Given the description of an element on the screen output the (x, y) to click on. 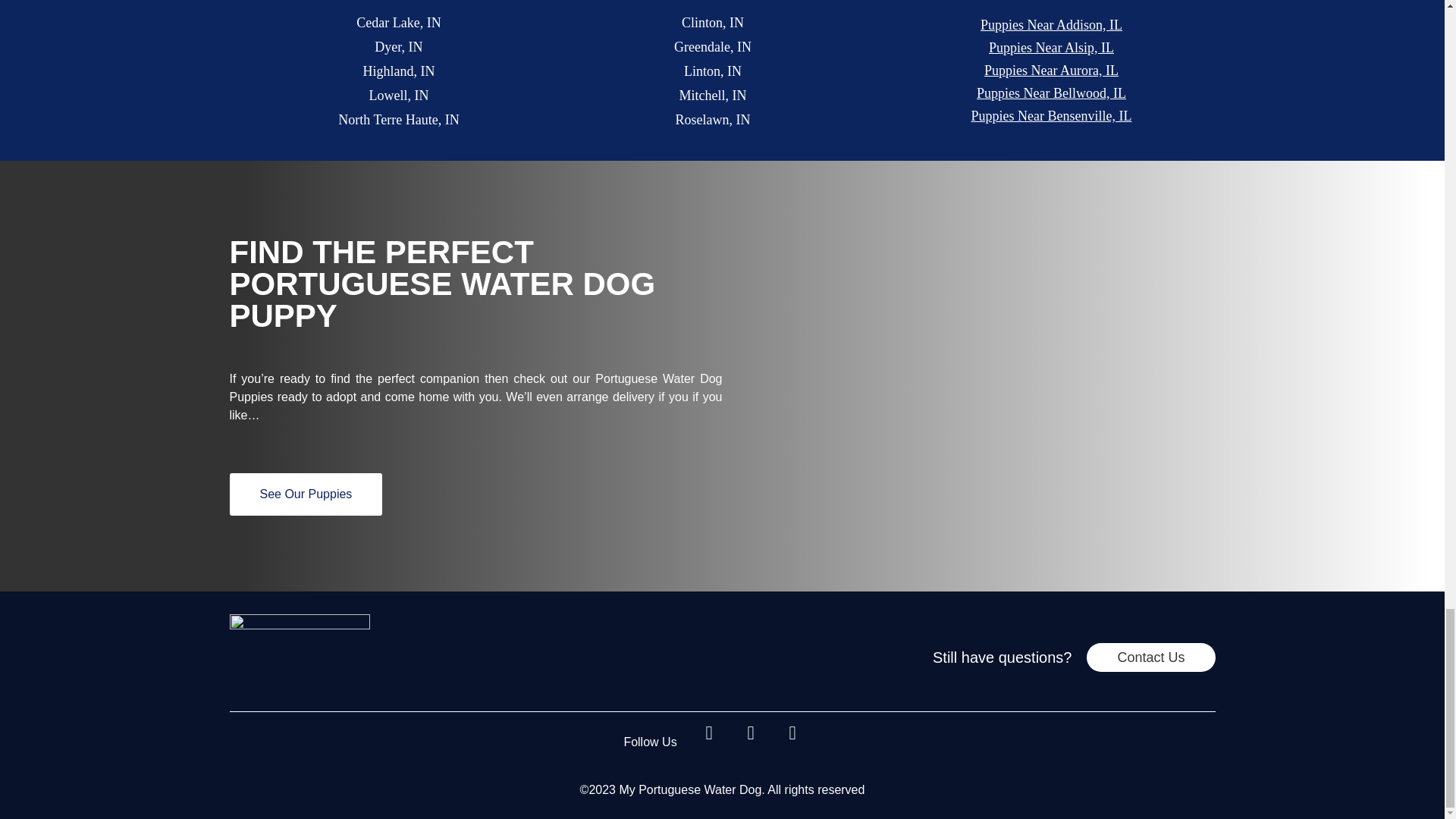
Puppies Near Addison, IL (1050, 25)
Puppies Near Bellwood, IL (1050, 93)
Puppies Near Bensenville, IL (1050, 116)
Puppies Near Aurora, IL (1050, 70)
Puppies Near Alsip, IL (1050, 47)
